Given the description of an element on the screen output the (x, y) to click on. 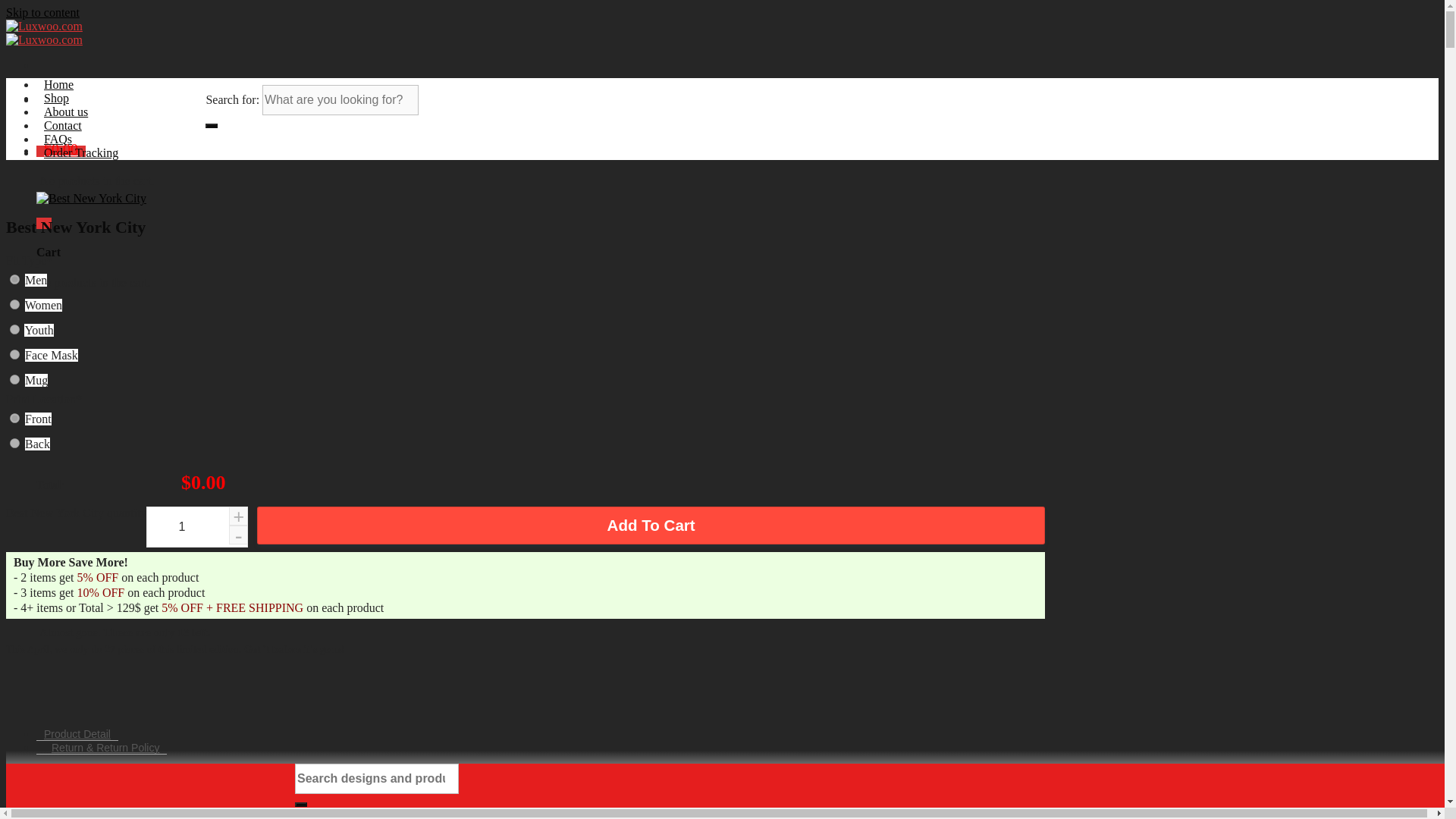
Mug (36, 379)
- (237, 534)
Order Tracking (80, 152)
Men (35, 279)
Mug (15, 379)
Cart (43, 223)
Face Mask (15, 354)
Best New York City  (91, 198)
Skip to content (42, 11)
1 (197, 526)
Women (15, 304)
FAQs (58, 138)
Home (58, 83)
Contact (62, 124)
Front (15, 418)
